Given the description of an element on the screen output the (x, y) to click on. 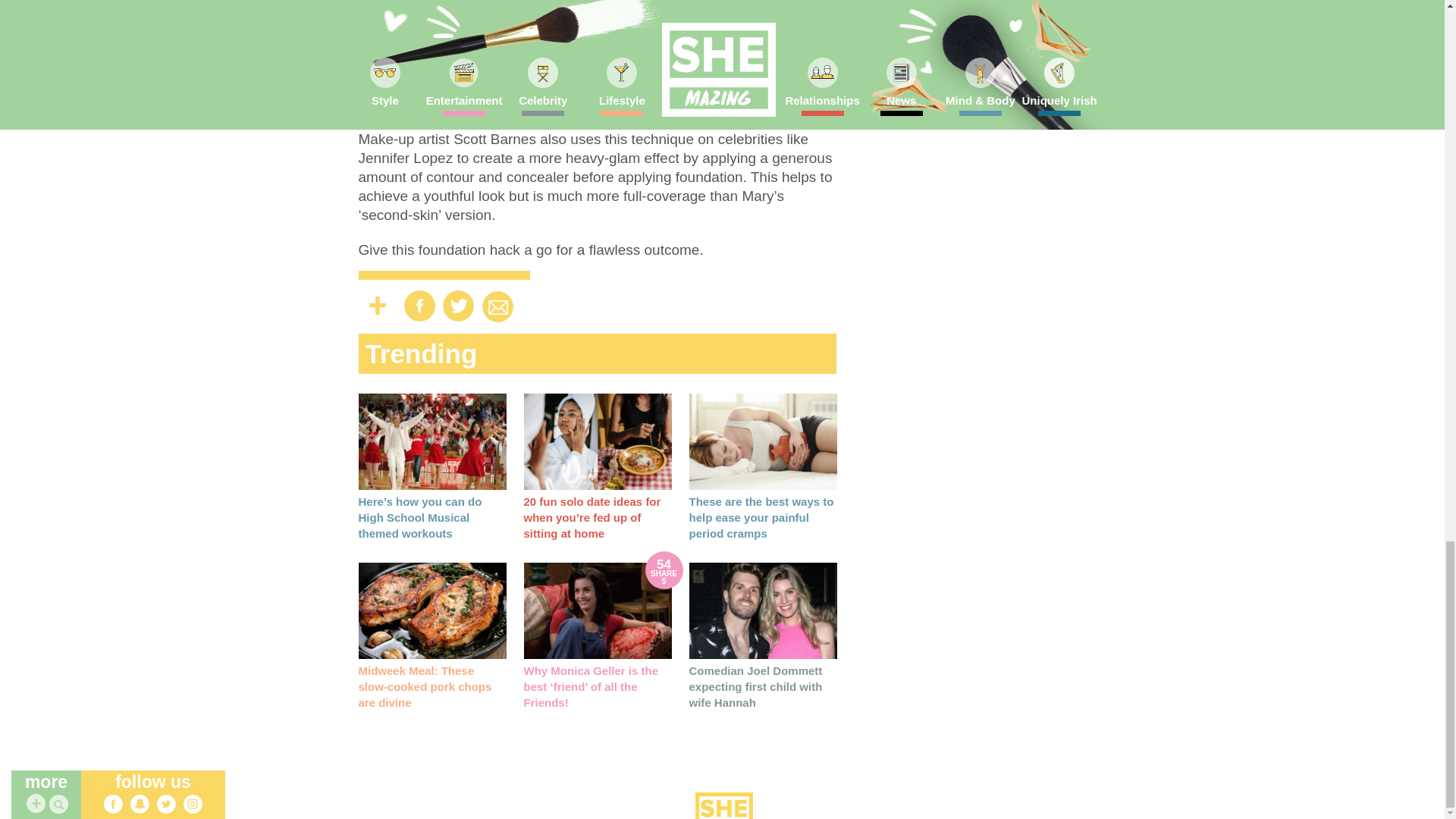
maryphillipsmakeup (476, 58)
contourtechnique (706, 58)
foundationhack (406, 74)
makeuphack (500, 74)
Midweek Meal: These slow-cooked pork chops are divine (431, 610)
maryphillipshack (596, 58)
